Given the description of an element on the screen output the (x, y) to click on. 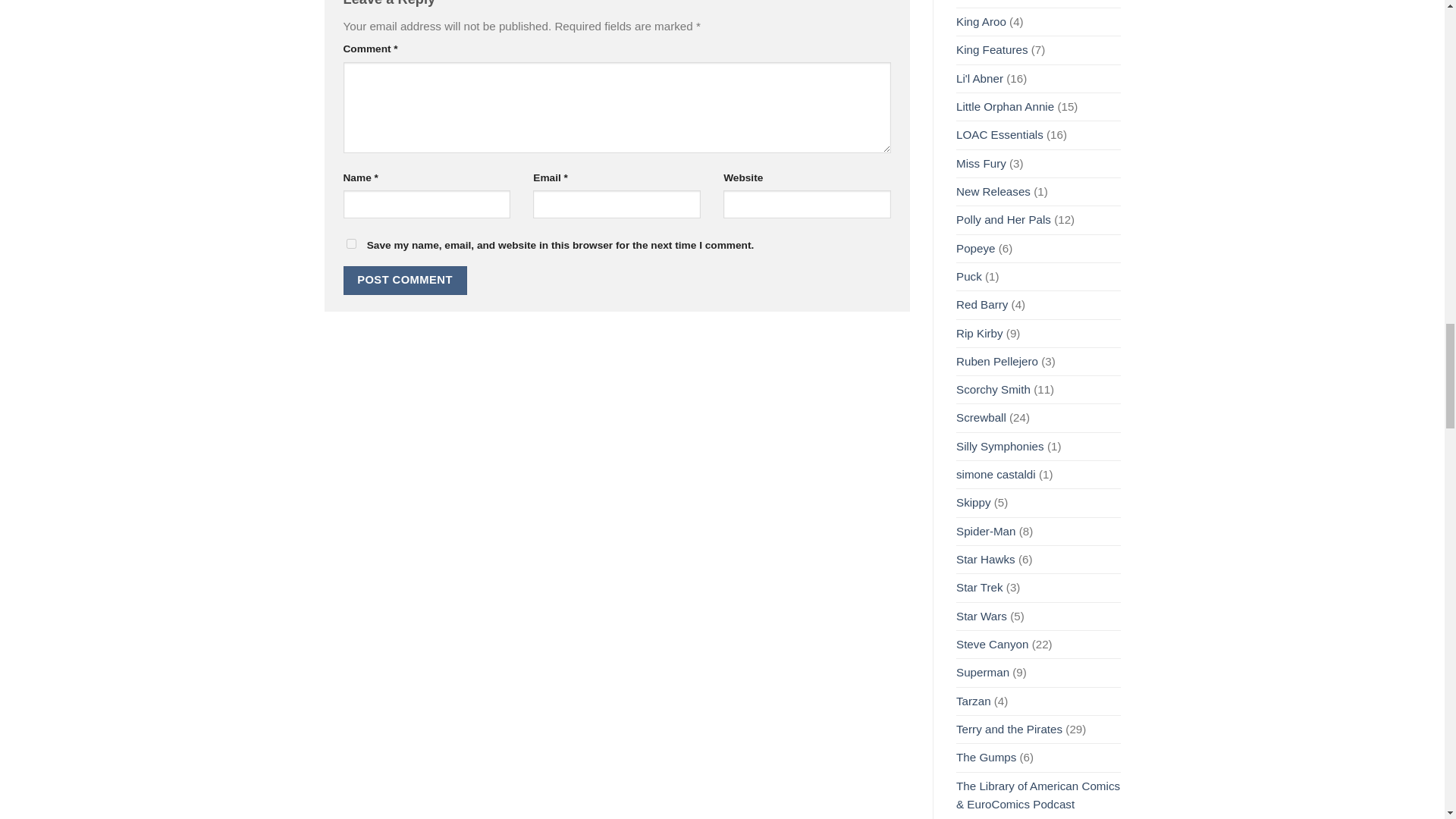
yes (350, 243)
Post Comment (403, 280)
Post Comment (403, 280)
